Given the description of an element on the screen output the (x, y) to click on. 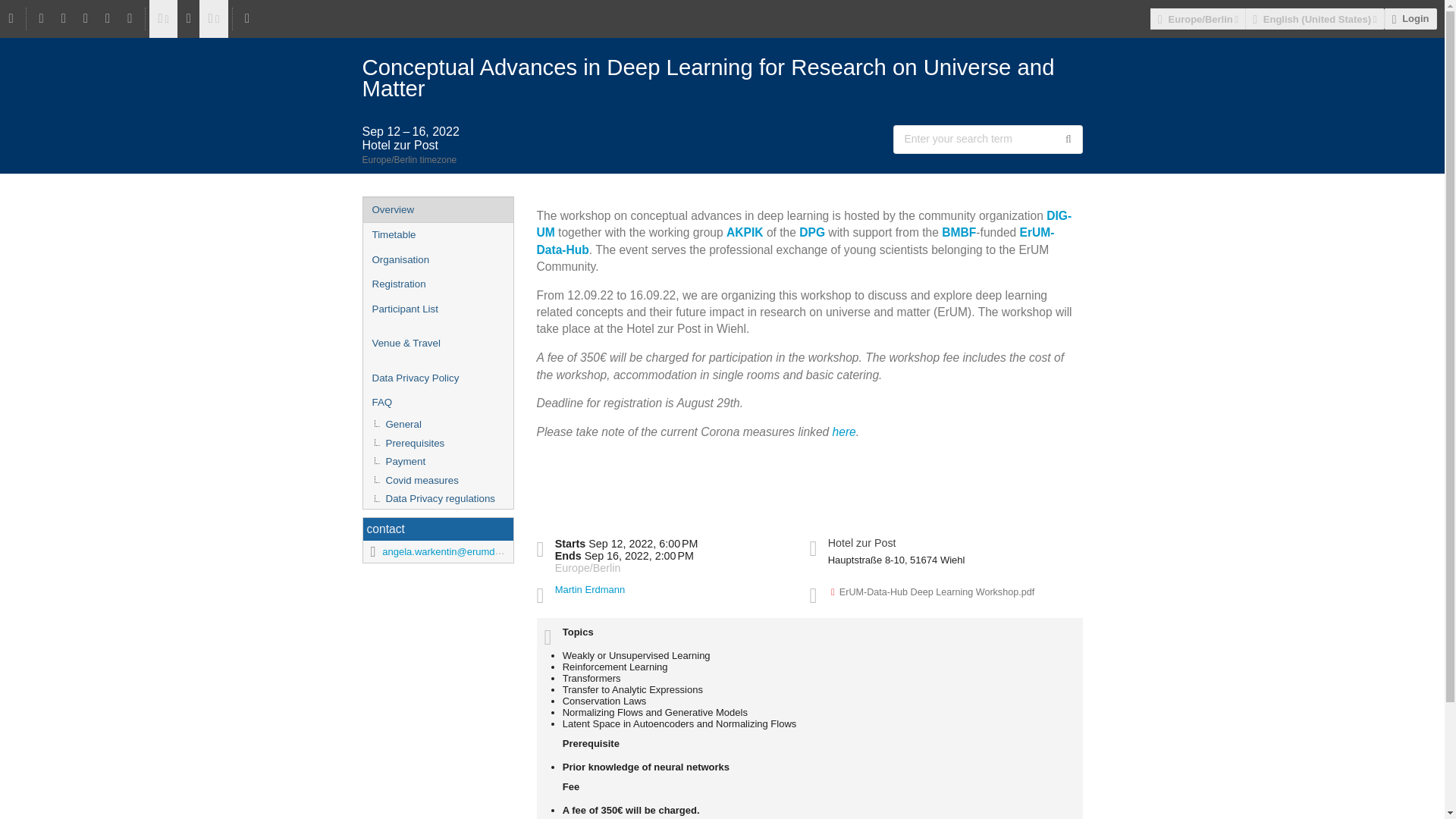
Registration (437, 284)
Timetable (437, 235)
Login (1410, 19)
Organisation (437, 260)
Participant List (437, 309)
Log in to see their email address (589, 589)
ErUM-Data-Hub Deep Learning Workshop.pdf (932, 592)
Overview (437, 209)
